Given the description of an element on the screen output the (x, y) to click on. 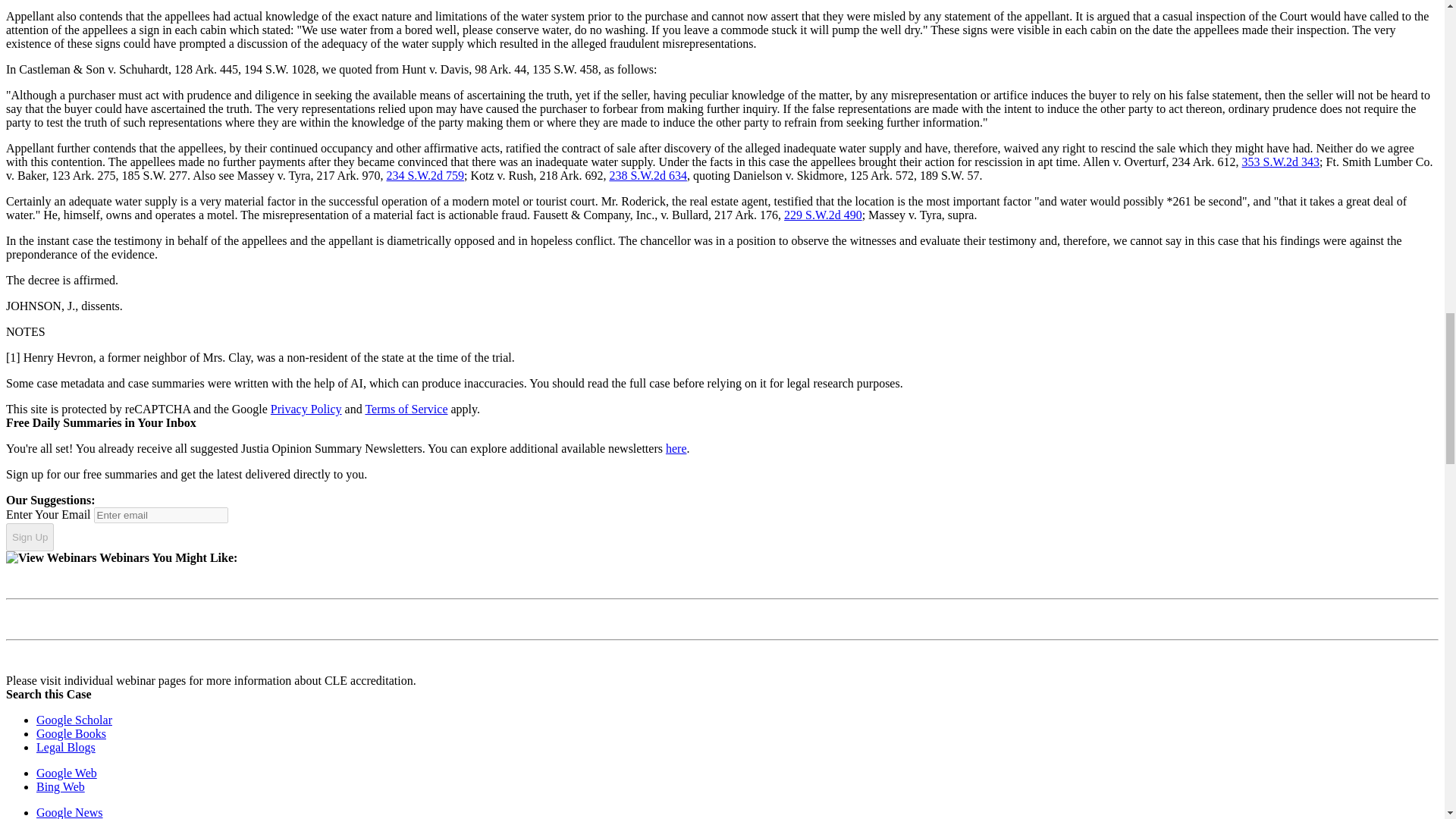
229 S.W.2d 490 (822, 214)
238 S.W.2d 634 (647, 174)
Law - Legal Blogs (66, 747)
Privacy Policy (306, 408)
Law - Google Books (71, 733)
Enter email (161, 514)
Law - Google Web (66, 772)
234 S.W.2d 759 (424, 174)
353 S.W.2d 343 (1280, 161)
Terms of Service (405, 408)
Sign Up (29, 537)
Law - Bing Web (60, 786)
here (676, 448)
Law - Google Scholar (74, 719)
Law - Google News (69, 812)
